Given the description of an element on the screen output the (x, y) to click on. 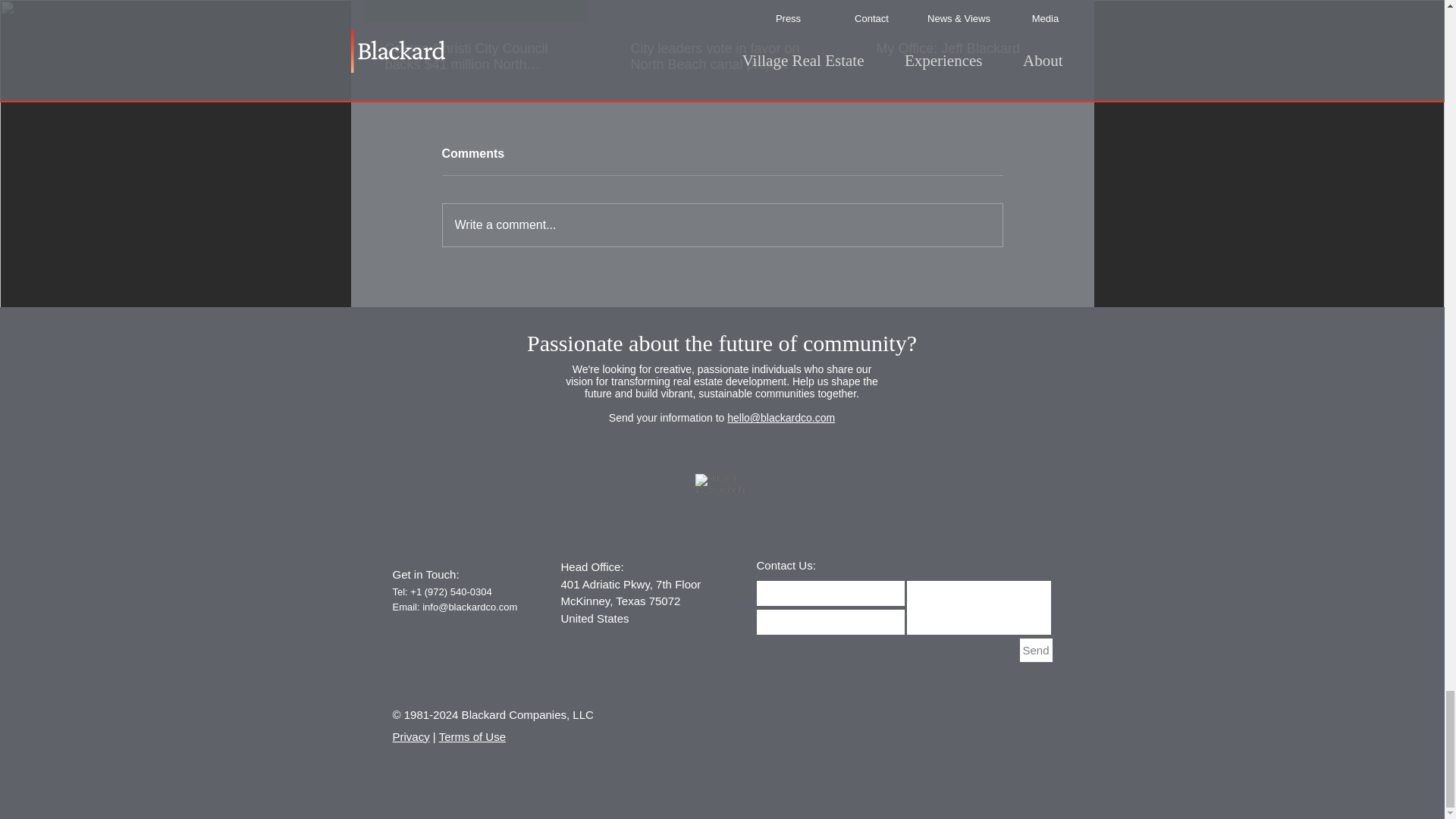
Write a comment... (722, 224)
City leaders vote in favor on North Beach canal project (721, 56)
Privacy (411, 736)
My Office: Jeff Blackard (967, 48)
Terms of Use (472, 736)
Send (1035, 649)
